Given the description of an element on the screen output the (x, y) to click on. 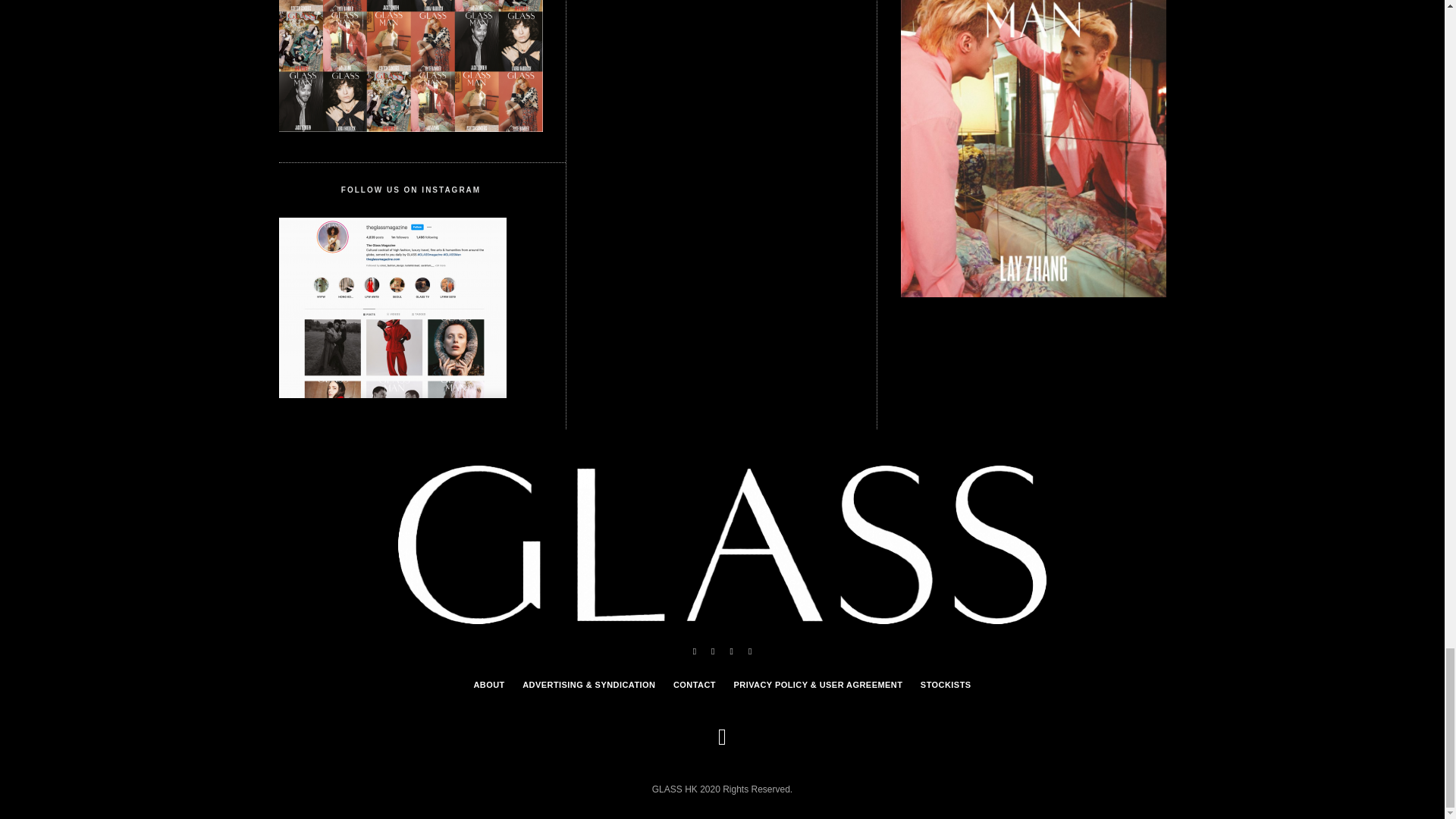
GLASS MAN x WONHO (1033, 148)
